Given the description of an element on the screen output the (x, y) to click on. 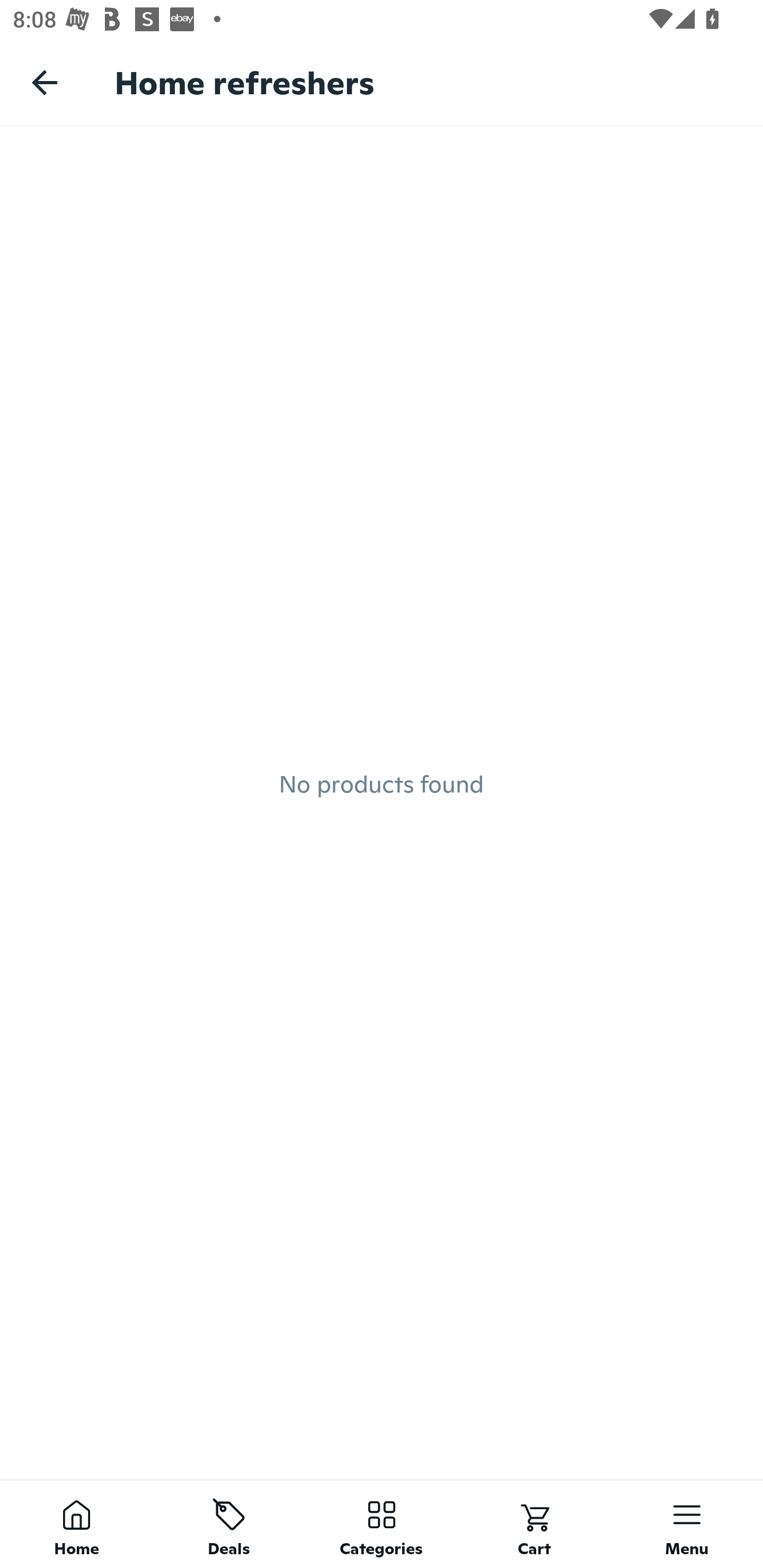
Navigate up (44, 82)
Home (76, 1523)
Deals (228, 1523)
Categories (381, 1523)
Cart (533, 1523)
Menu (686, 1523)
